Given the description of an element on the screen output the (x, y) to click on. 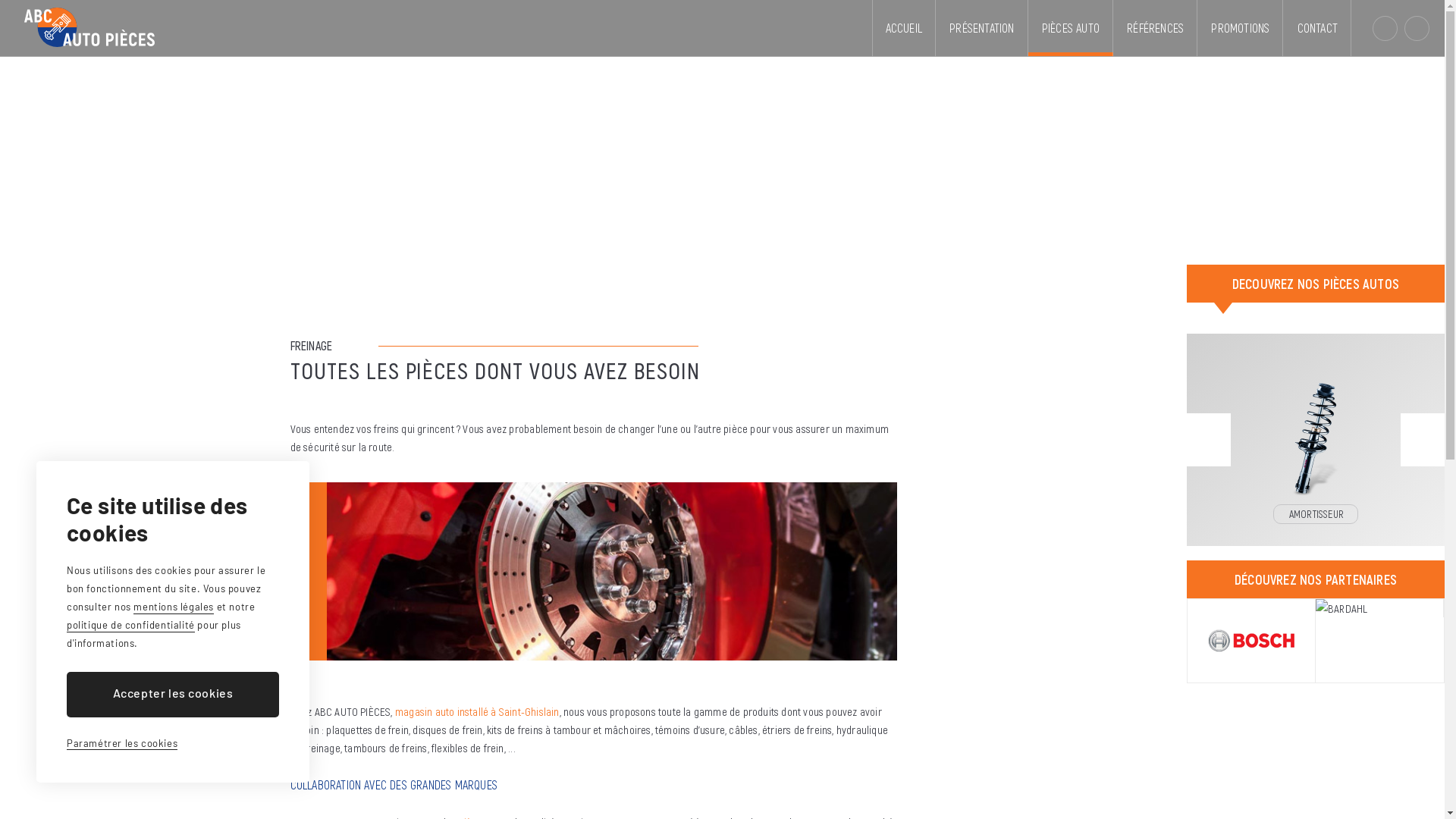
Freinage Element type: hover (592, 571)
BOSCH Element type: hover (1251, 640)
Amortisseur Element type: hover (1315, 418)
FILTRE Element type: text (1314, 514)
Next Element type: text (1422, 439)
info@abcautopieces.be Element type: text (1384, 27)
Previous Element type: text (1208, 439)
FILTRE Element type: text (1315, 439)
Facebook Element type: text (1416, 27)
ACCUEIL Element type: text (903, 28)
CONTACT Element type: text (1317, 28)
PROMOTIONS Element type: text (1240, 28)
